Given the description of an element on the screen output the (x, y) to click on. 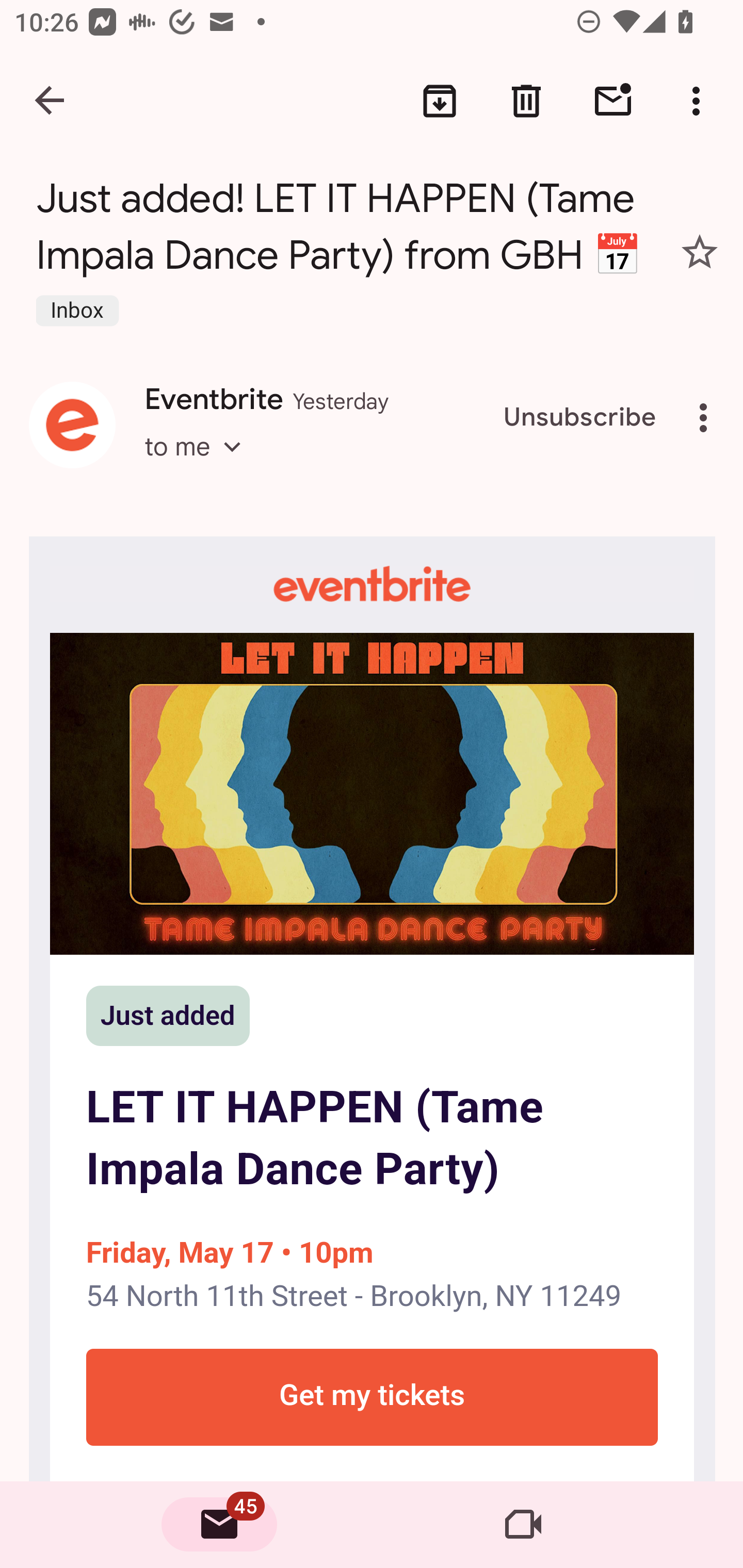
Navigate up (50, 101)
Archive (439, 101)
Delete (525, 101)
Mark unread (612, 101)
More options (699, 101)
Add star (699, 251)
Unsubscribe (579, 417)
More options (706, 417)
Show contact information for Eventbrite (71, 424)
to me (199, 464)
Eventbrite (371, 583)
LET IT HAPPEN (Tame Impala Dance Party) (371, 793)
LET IT HAPPEN (Tame Impala Dance Party) (371, 1138)
Get my tickets (371, 1396)
Meet (523, 1524)
